Given the description of an element on the screen output the (x, y) to click on. 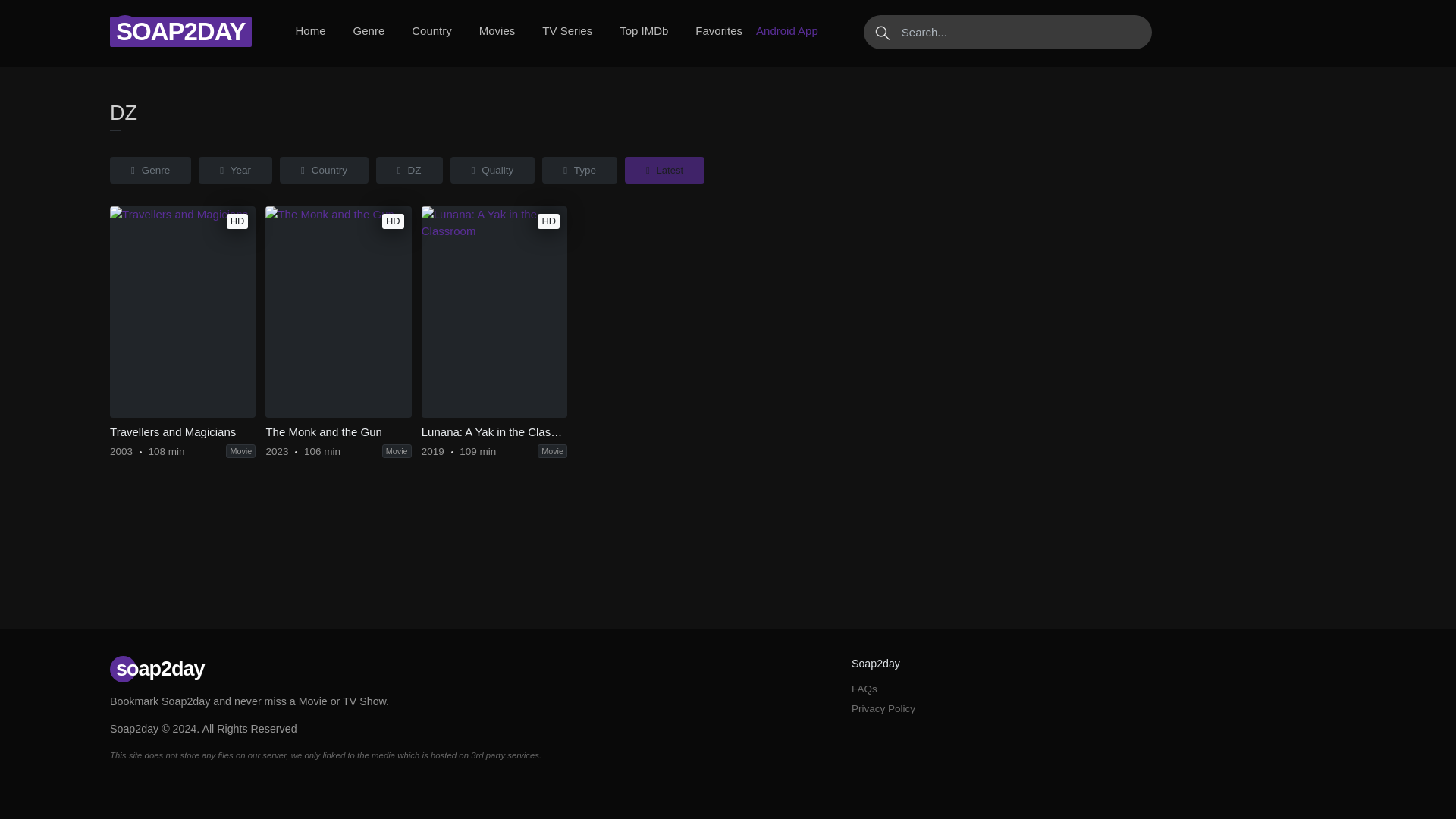
Genre (369, 31)
Home (310, 31)
SOAP2DAY (181, 31)
Country (432, 31)
